Given the description of an element on the screen output the (x, y) to click on. 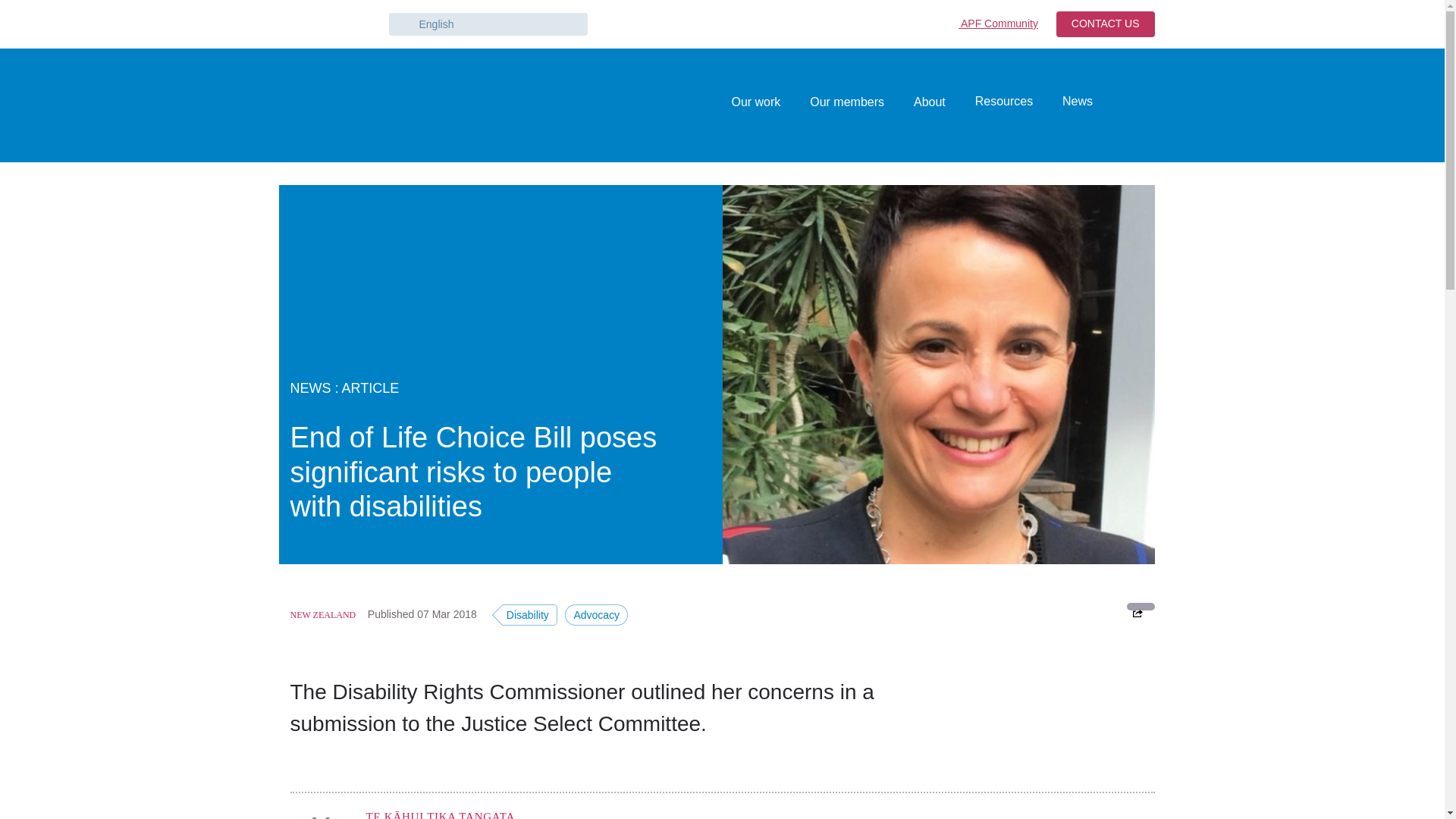
About submenu (952, 102)
News submenu (1099, 102)
CONTACT US (1105, 23)
Resources submenu (1039, 102)
Our members (846, 101)
Our work (755, 101)
Search (1138, 104)
About (929, 101)
Our work submenu (788, 102)
APF Community (994, 23)
Our members submenu (890, 102)
